Given the description of an element on the screen output the (x, y) to click on. 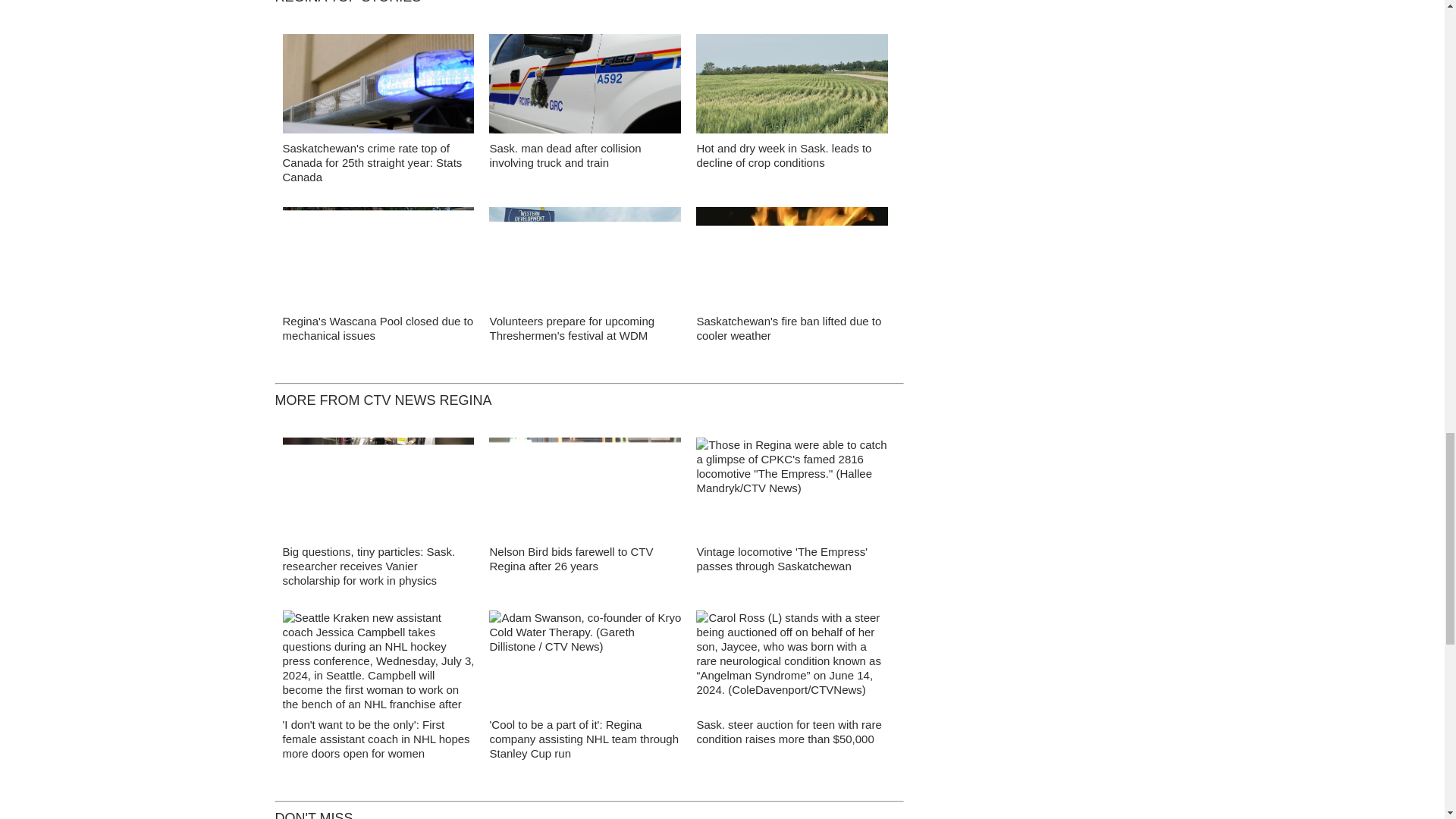
Regina's Wascana Pool closed due to mechanical issues (377, 328)
Kryo Cold Water Therapy (585, 664)
Nelson Bird bids farewell to CTV Regina after 26 years (570, 558)
Saskatchewan's fire ban lifted due to cooler weather (787, 328)
Sask. man dead after collision involving truck and train (564, 154)
fire ban (791, 260)
Crops  (791, 87)
RCMP (585, 88)
Nelson Bird (585, 491)
Jessica Campbell (378, 664)
Regina Police (378, 87)
